Given the description of an element on the screen output the (x, y) to click on. 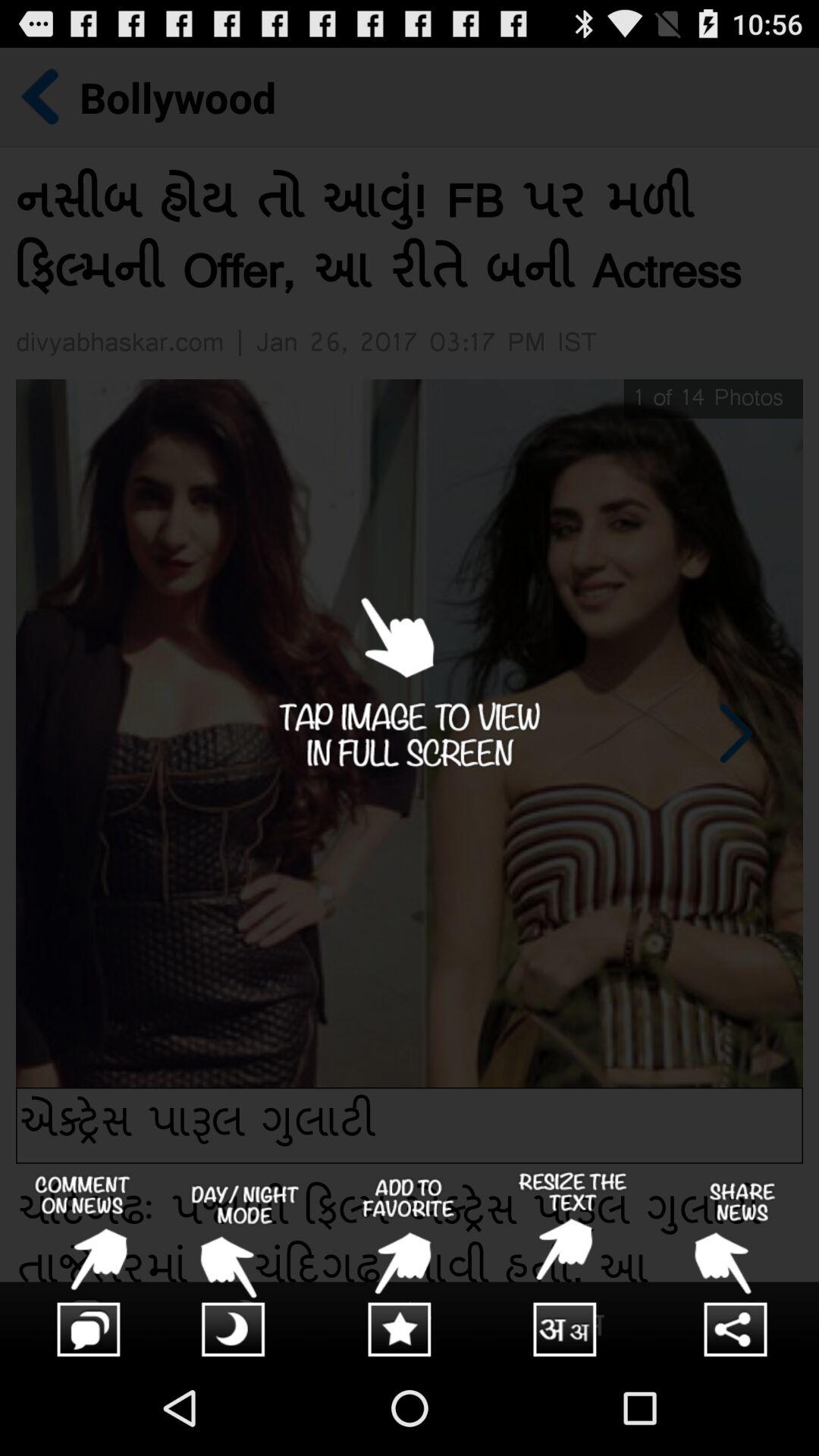
resize the text (573, 1265)
